Given the description of an element on the screen output the (x, y) to click on. 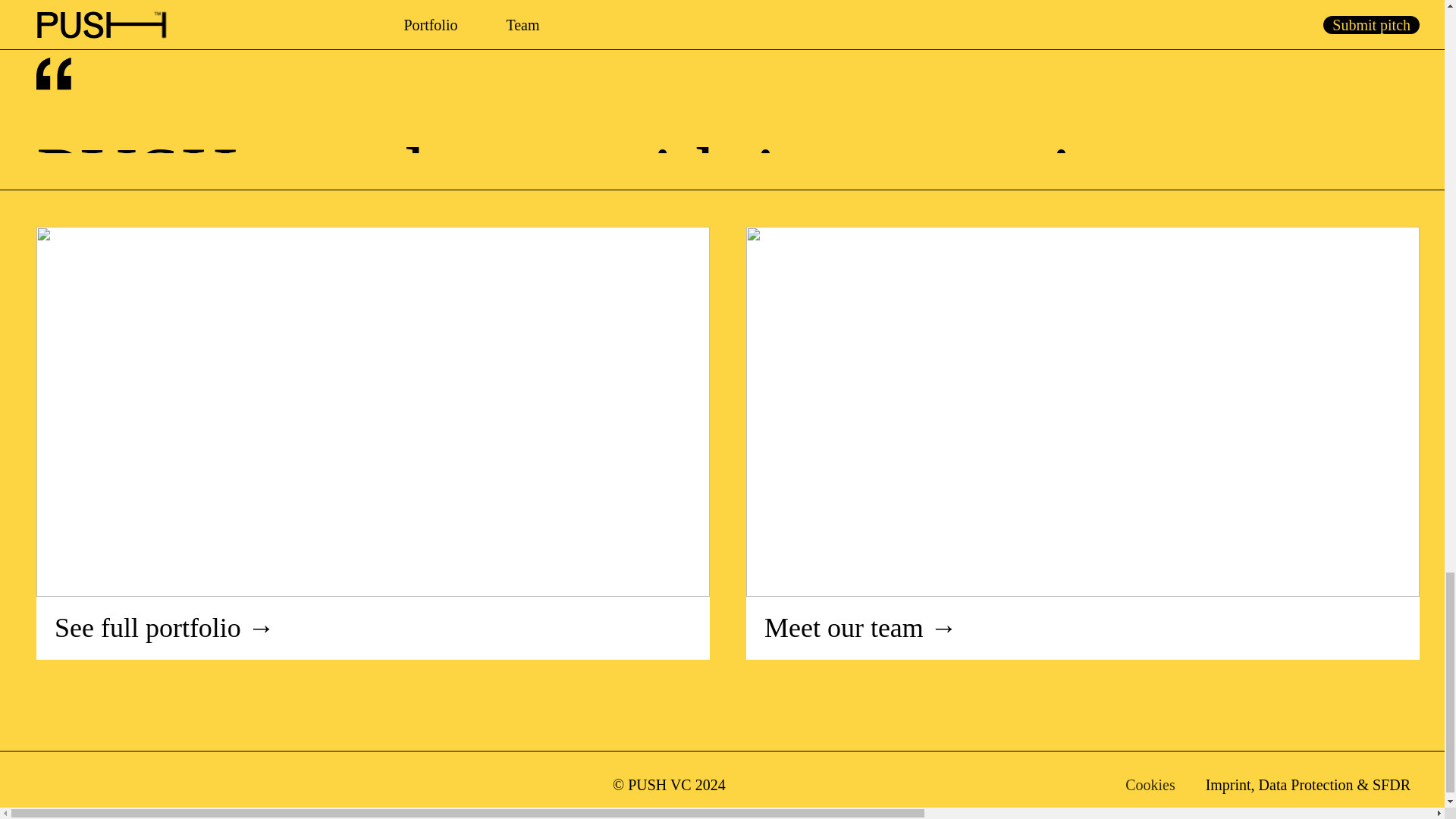
Cookies (1150, 784)
